Given the description of an element on the screen output the (x, y) to click on. 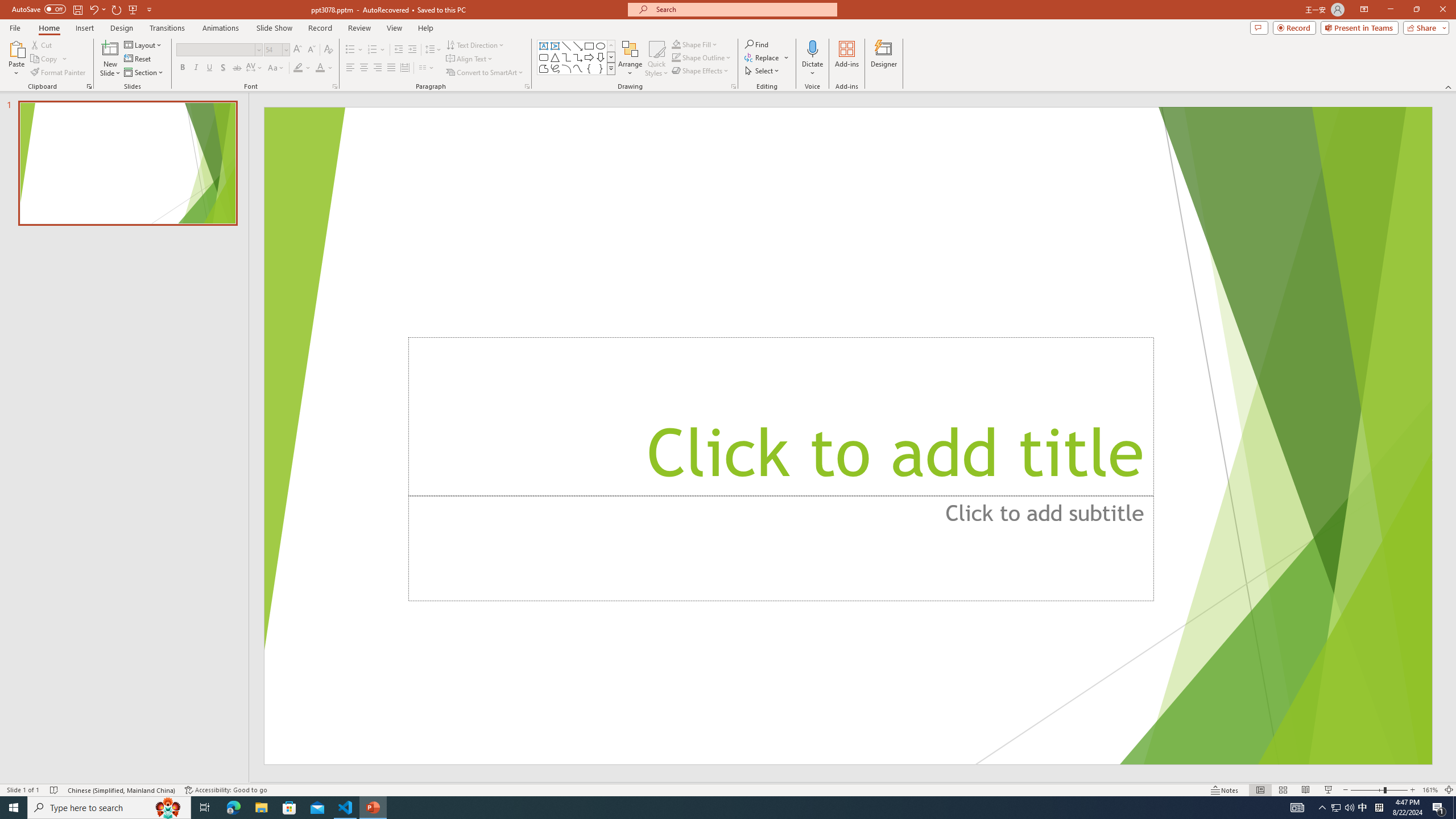
Help (425, 28)
Zoom 161% (1430, 790)
Center (363, 67)
AutoSave (38, 9)
Shadow (223, 67)
Select (762, 69)
Present in Teams (1359, 27)
Class: MsoCommandBar (728, 789)
Shape Outline (701, 56)
Find... (756, 44)
Zoom In (1412, 790)
System (6, 6)
Redo (117, 9)
Record (320, 28)
